Given the description of an element on the screen output the (x, y) to click on. 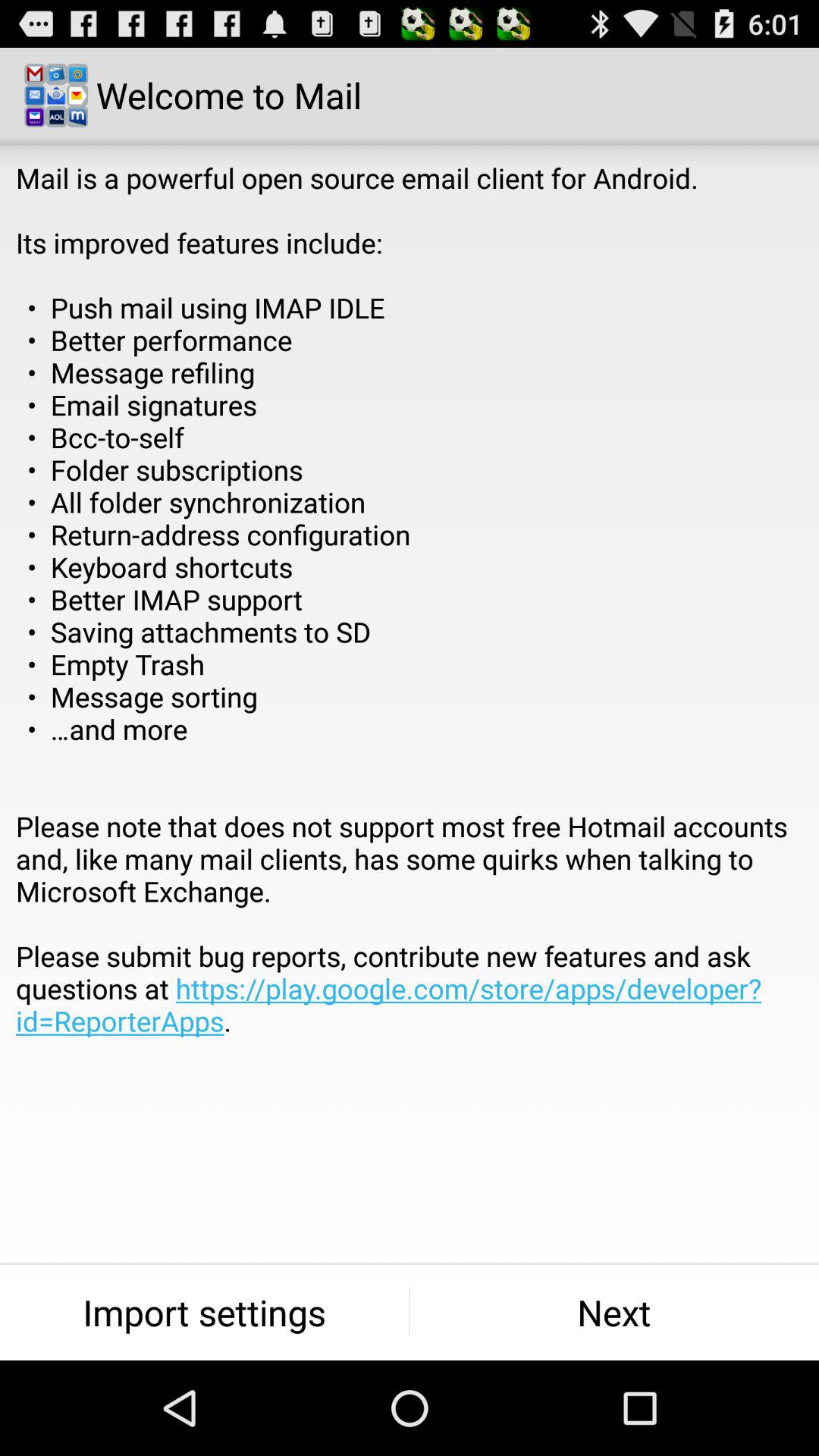
launch item to the left of the next (204, 1312)
